Given the description of an element on the screen output the (x, y) to click on. 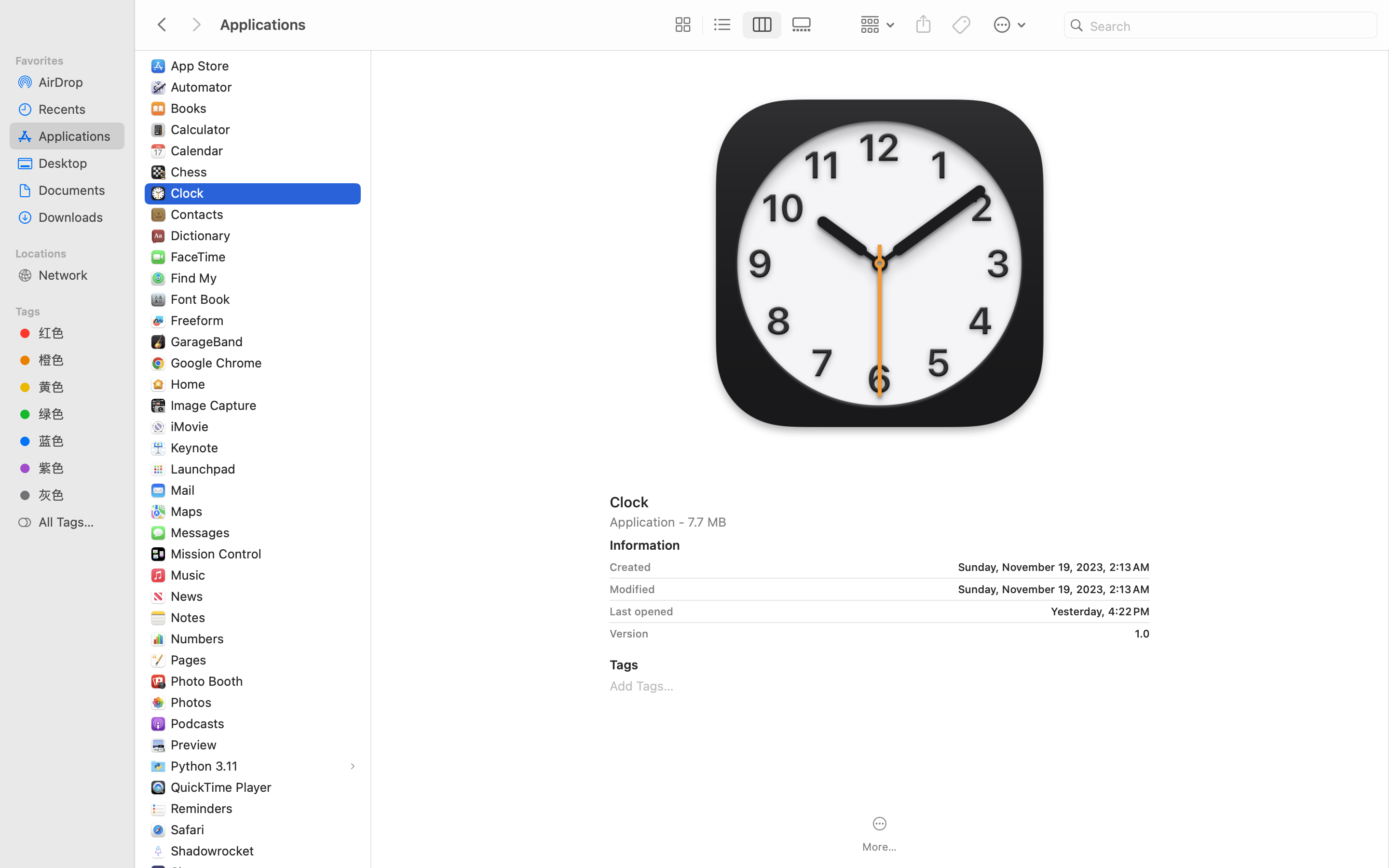
Freeform Element type: AXTextField (198, 319)
Messages Element type: AXTextField (201, 532)
Yesterday, 4:22 PM Element type: AXStaticText (914, 611)
1.0 Element type: AXStaticText (901, 633)
Image Capture Element type: AXTextField (215, 404)
